Given the description of an element on the screen output the (x, y) to click on. 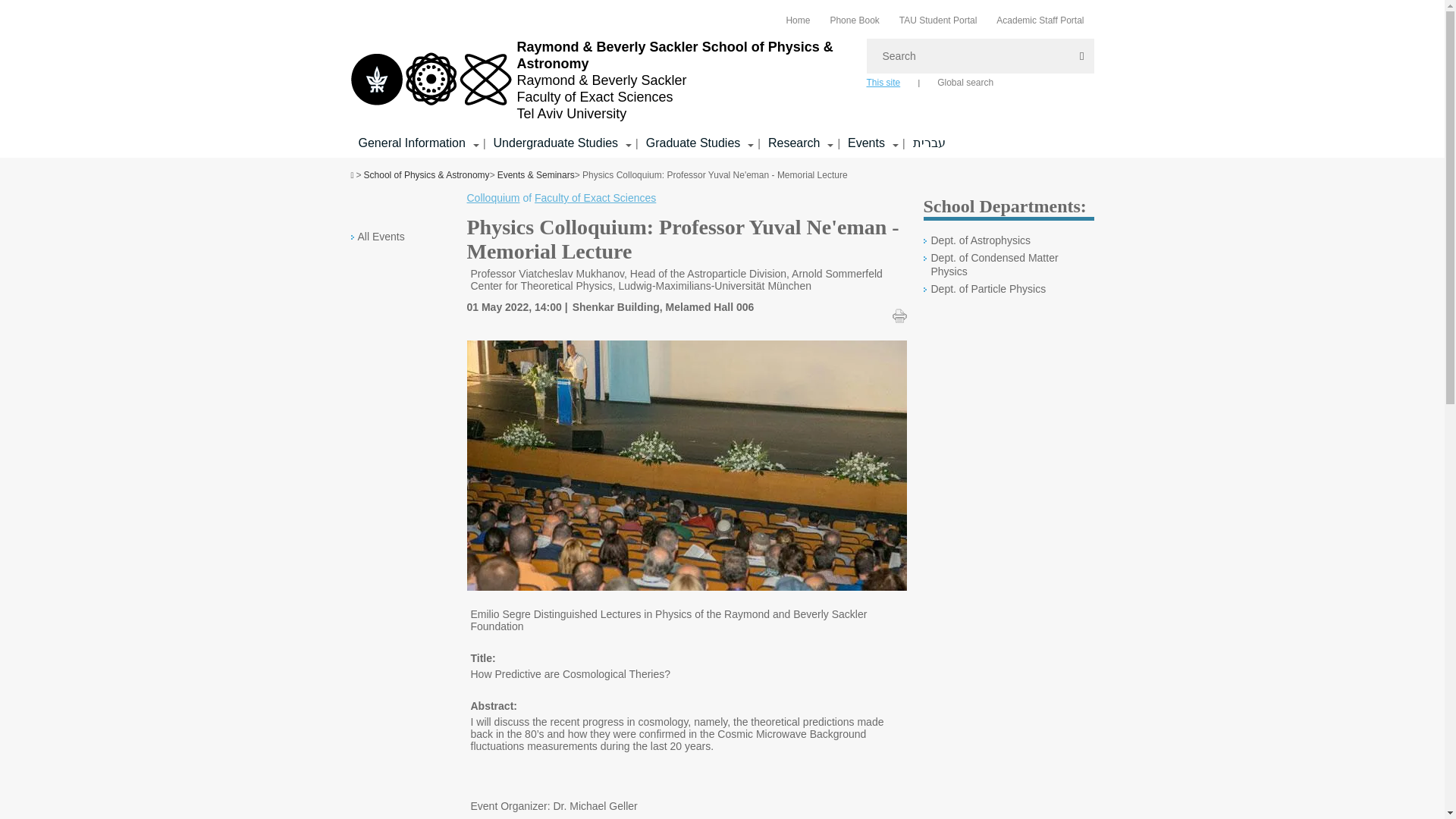
Undergraduate Studies (555, 143)
Home (797, 20)
TAU Student Portal (937, 20)
Phone Book (854, 20)
TAU Student Portal (937, 20)
Academic Staff Portal (1039, 20)
General Information (411, 143)
Go to homepage (600, 80)
Home (797, 20)
Academic Staff Portal (1039, 20)
Phone Book (854, 20)
